Given the description of an element on the screen output the (x, y) to click on. 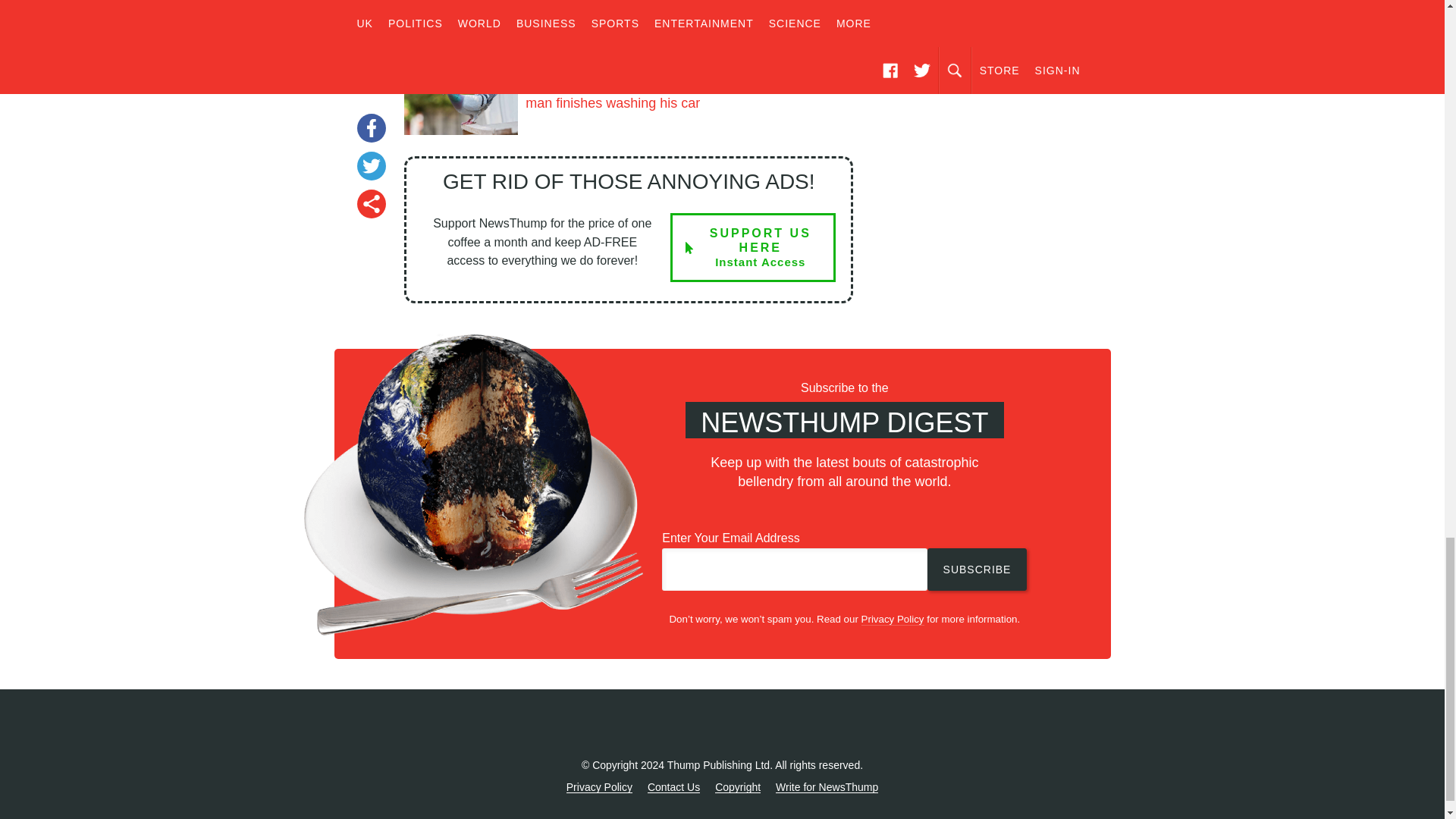
Subscribe (752, 247)
